Given the description of an element on the screen output the (x, y) to click on. 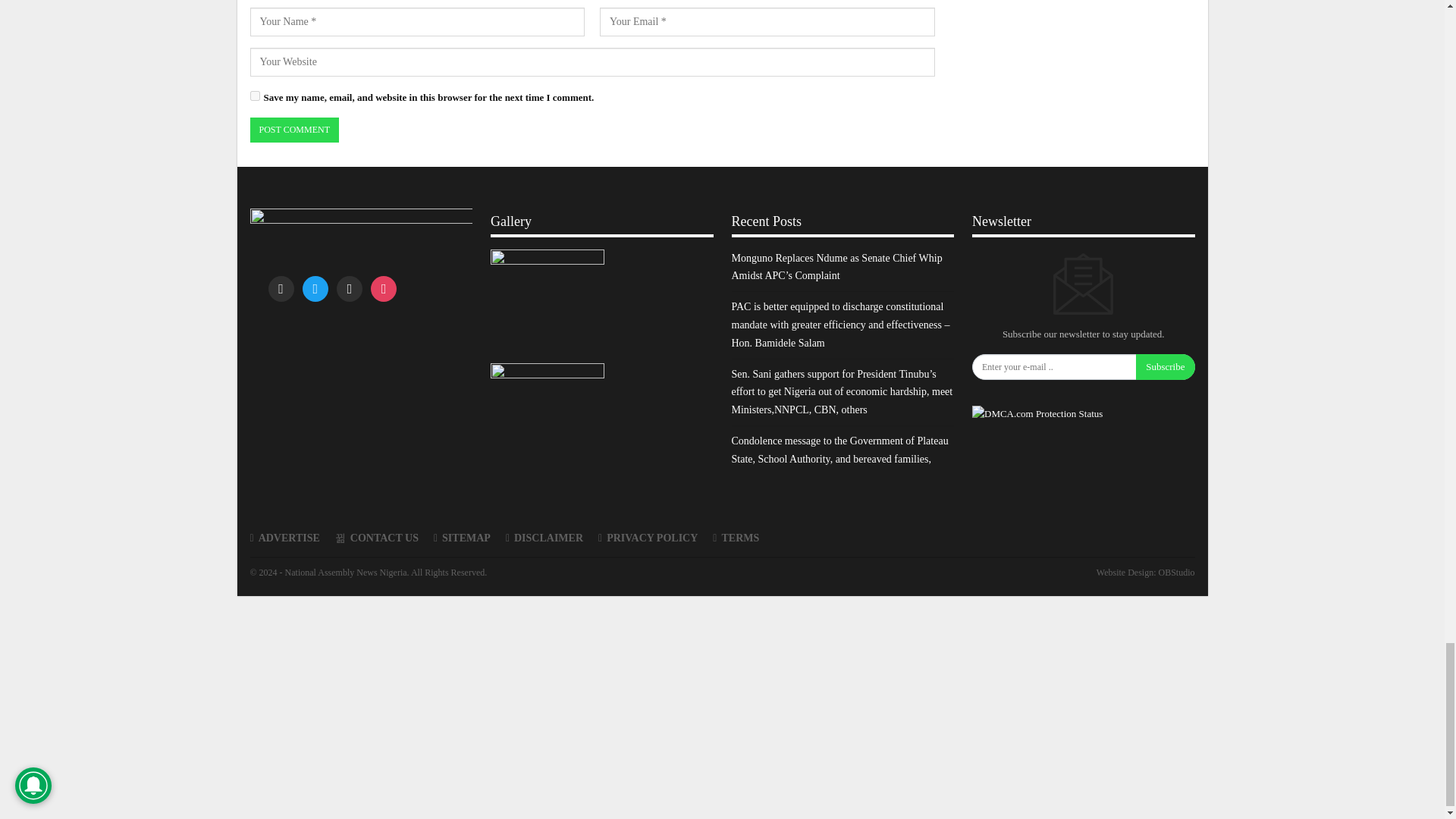
Post Comment (294, 129)
yes (255, 95)
